Given the description of an element on the screen output the (x, y) to click on. 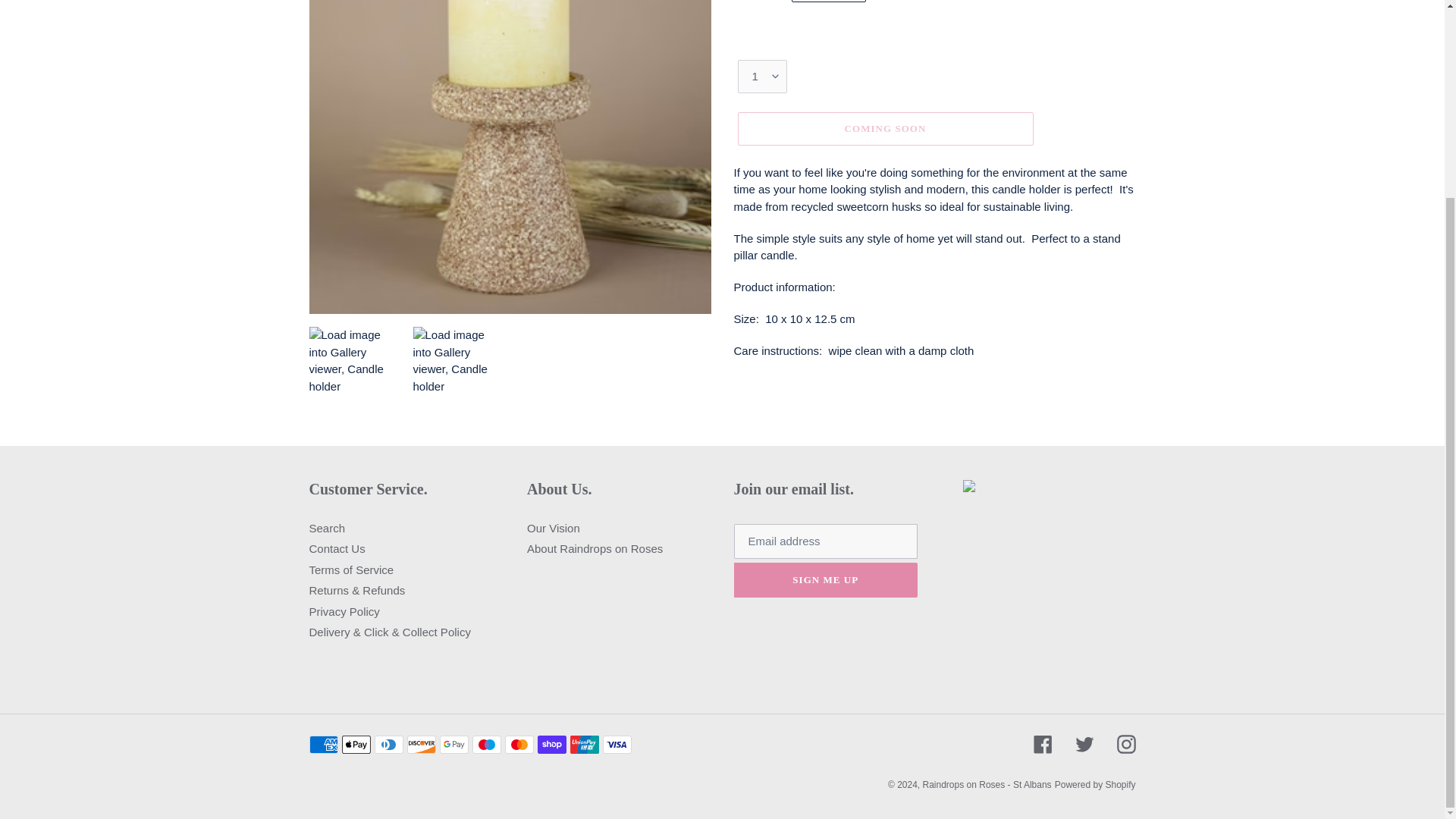
Maestro (485, 743)
Apple Pay (354, 743)
Google Pay (453, 743)
Discover (420, 743)
American Express (322, 743)
Mastercard (519, 743)
Diners Club (388, 743)
